Given the description of an element on the screen output the (x, y) to click on. 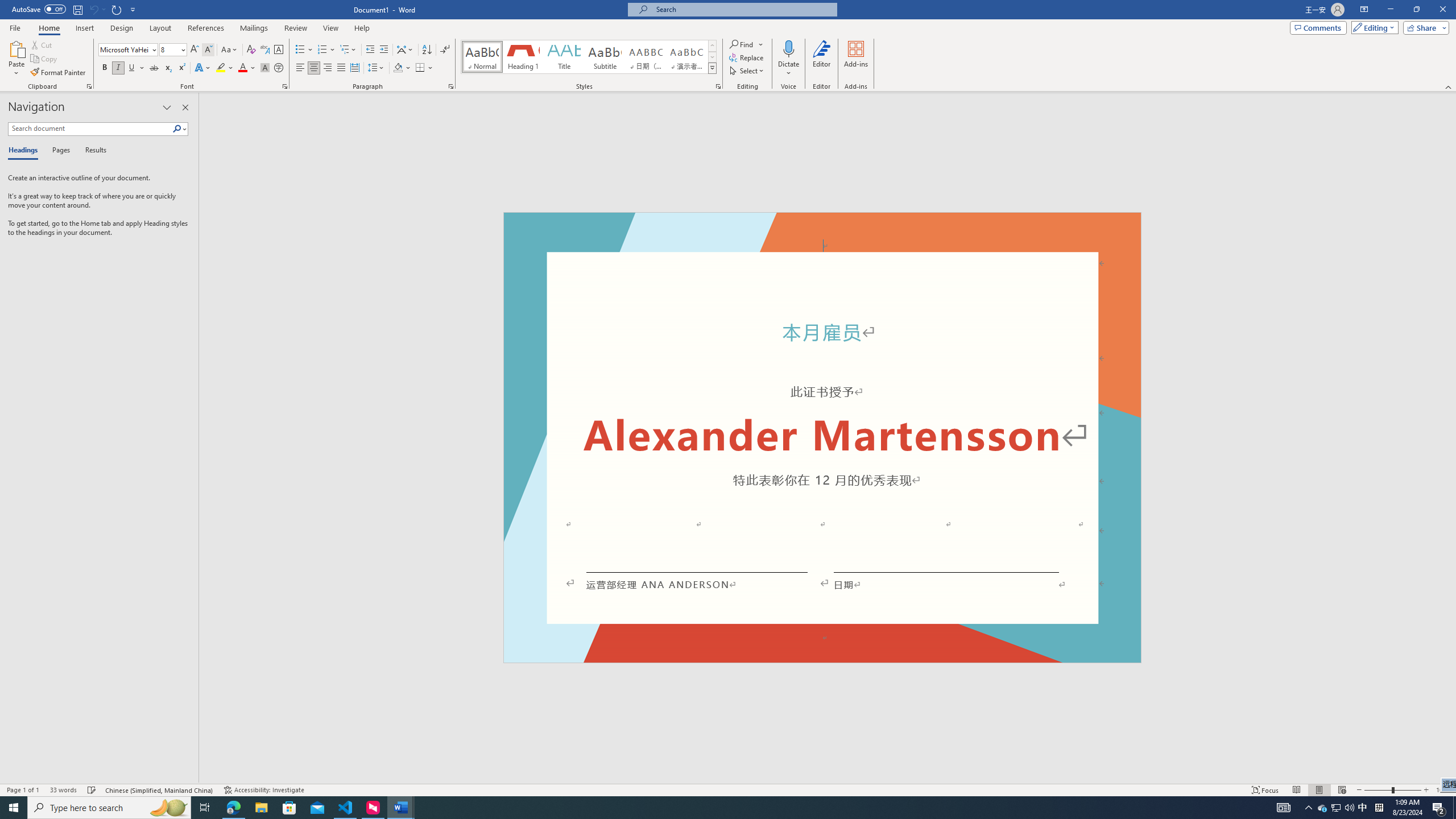
Grow Font (193, 49)
Find (746, 44)
Pages (59, 150)
Strikethrough (154, 67)
Zoom (1392, 790)
Mode (1372, 27)
Multilevel List (347, 49)
Search (177, 128)
Quick Access Toolbar (74, 9)
Zoom 100% (1443, 790)
Subtitle (605, 56)
Font Size (172, 49)
Text Highlight Color Yellow (220, 67)
Increase Indent (383, 49)
Mailings (253, 28)
